Given the description of an element on the screen output the (x, y) to click on. 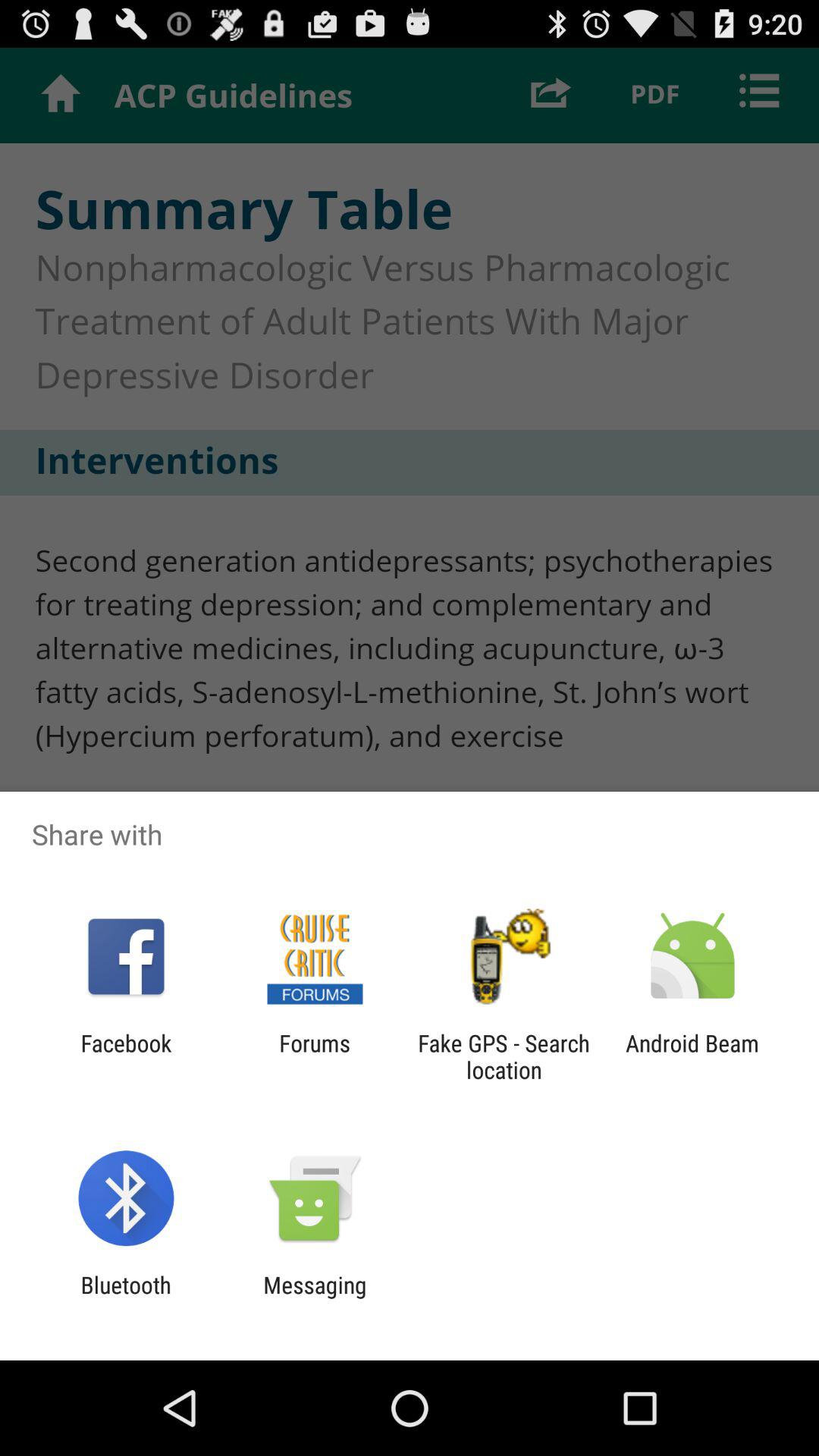
press the forums app (314, 1056)
